Given the description of an element on the screen output the (x, y) to click on. 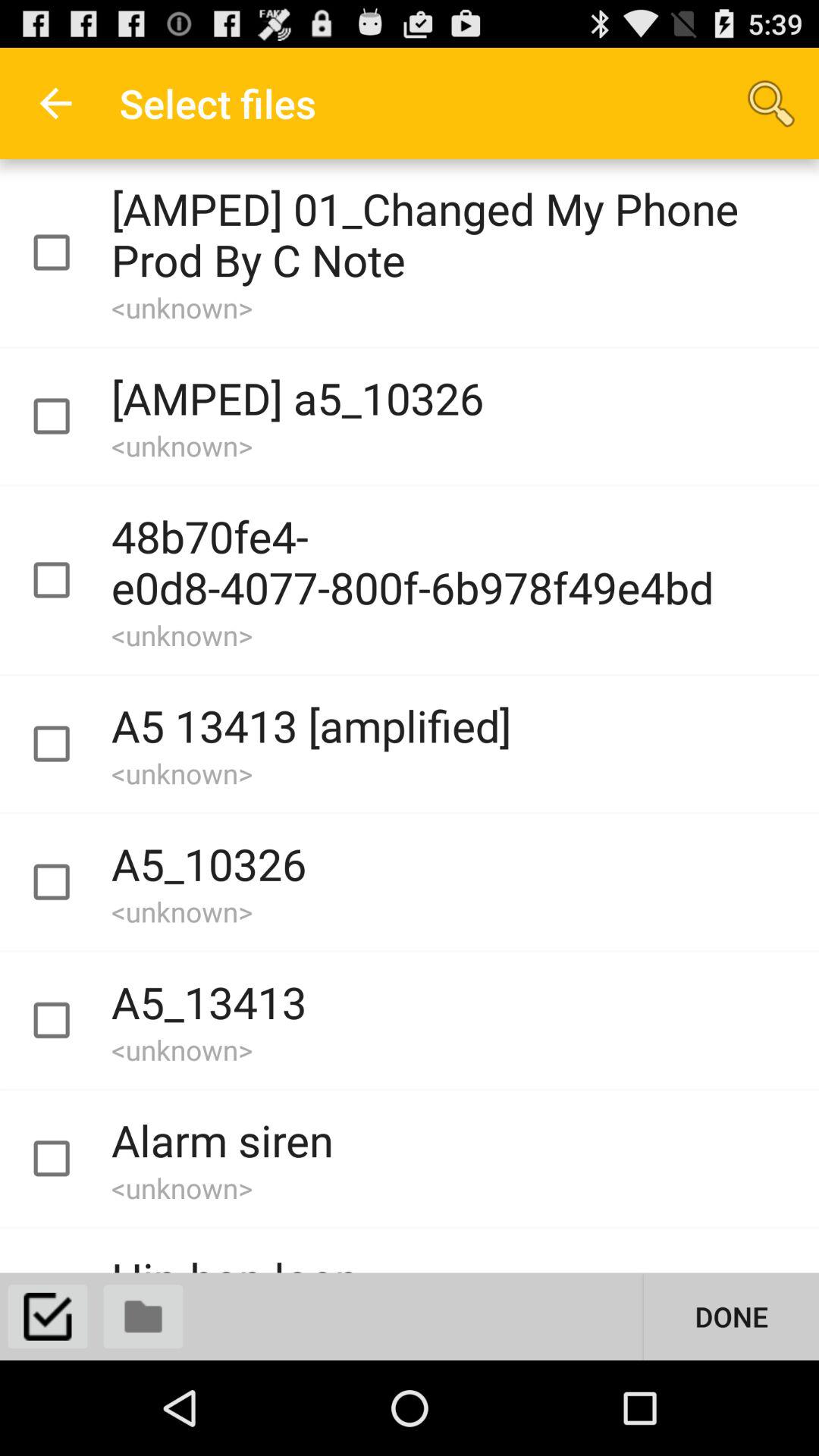
open app next to the select files (55, 103)
